Given the description of an element on the screen output the (x, y) to click on. 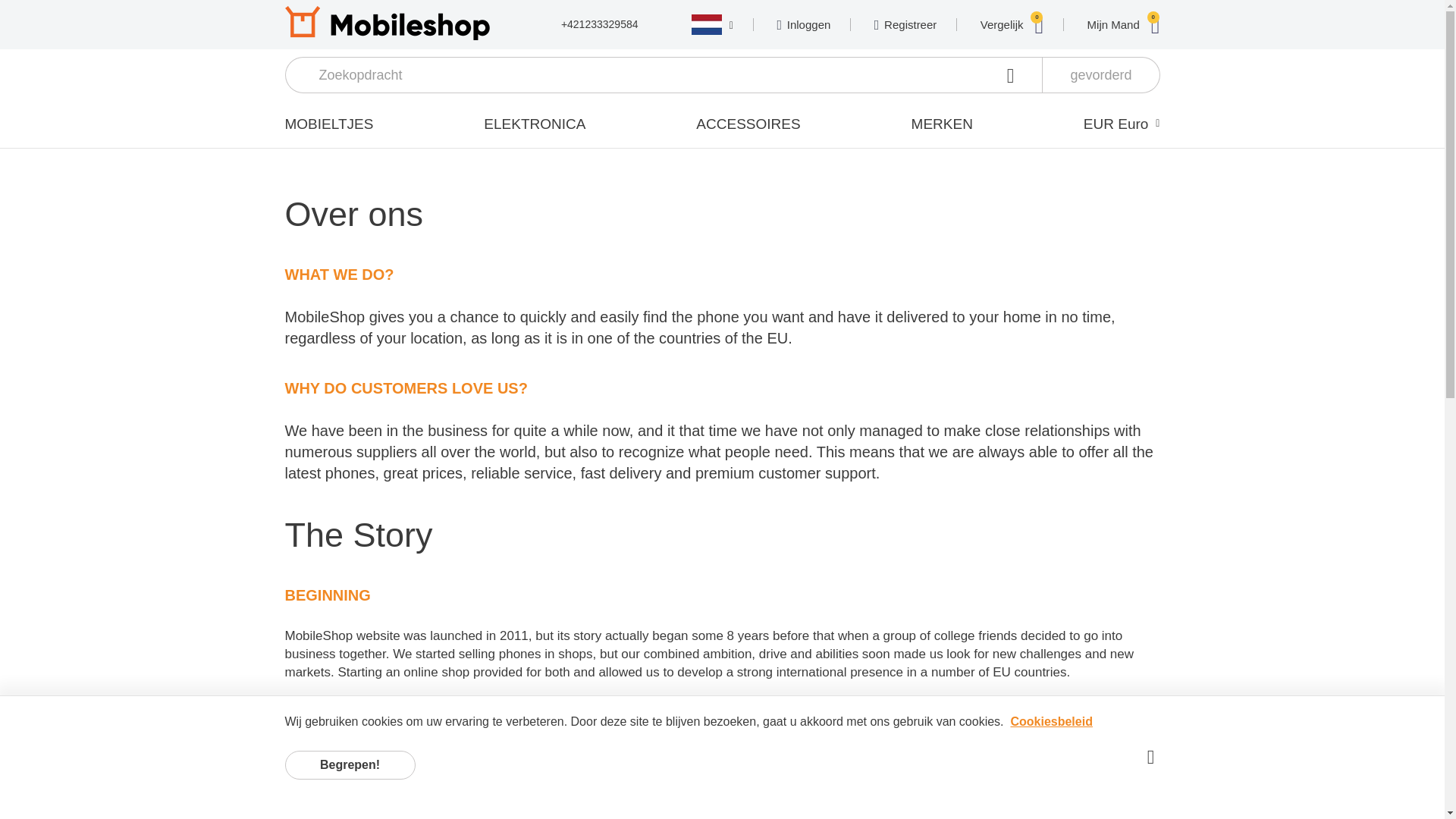
Inloggen (1123, 24)
Registreer (802, 25)
MERKEN (906, 25)
ACCESSOIRES (941, 124)
ELEKTRONICA (748, 124)
gevorderd (1011, 24)
EUR Euro (534, 124)
MOBIELTJES (1100, 74)
